Given the description of an element on the screen output the (x, y) to click on. 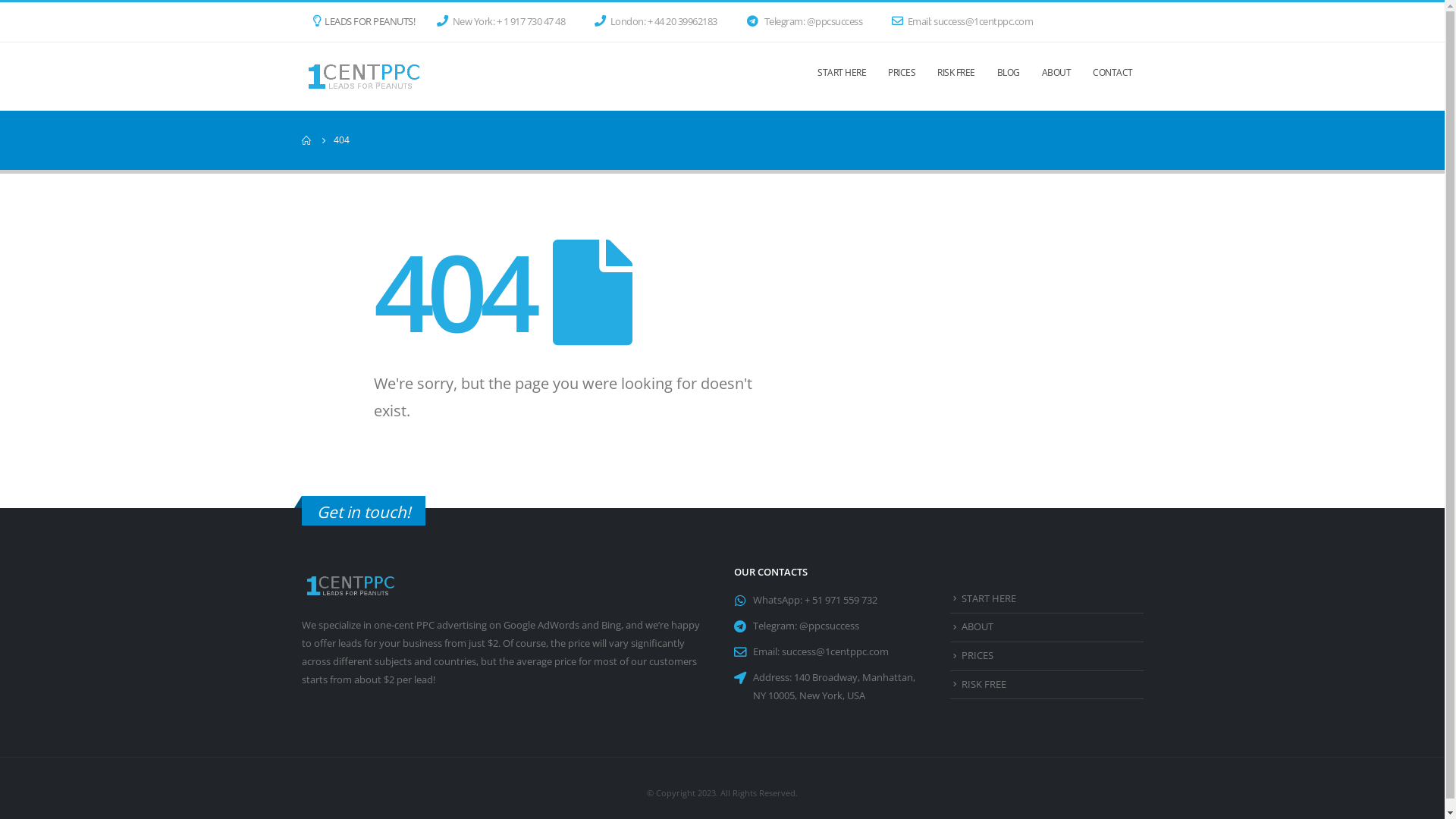
Email: success@1centppc.com Element type: text (965, 21)
+ 51 971 559 732 Element type: text (839, 599)
ABOUT Element type: text (1056, 76)
ABOUT Element type: text (977, 626)
CONTACT Element type: text (1112, 76)
START HERE Element type: text (841, 76)
BLOG Element type: text (1007, 76)
success@1centppc.com Element type: text (834, 651)
PRICES Element type: text (977, 655)
140 Broadway, Manhattan, NY 10005, New York, USA Element type: text (833, 686)
Telegram: @ppcsuccess Element type: text (807, 21)
RISK FREE Element type: text (983, 683)
London: + 44 20 39962183 Element type: text (659, 21)
START HERE Element type: text (988, 598)
Go to Home Page Element type: hover (306, 140)
New York: + 1 917 730 47 48 Element type: text (504, 21)
RISK FREE Element type: text (955, 76)
@ppcsuccess Element type: text (829, 625)
PRICES Element type: text (901, 76)
